Given the description of an element on the screen output the (x, y) to click on. 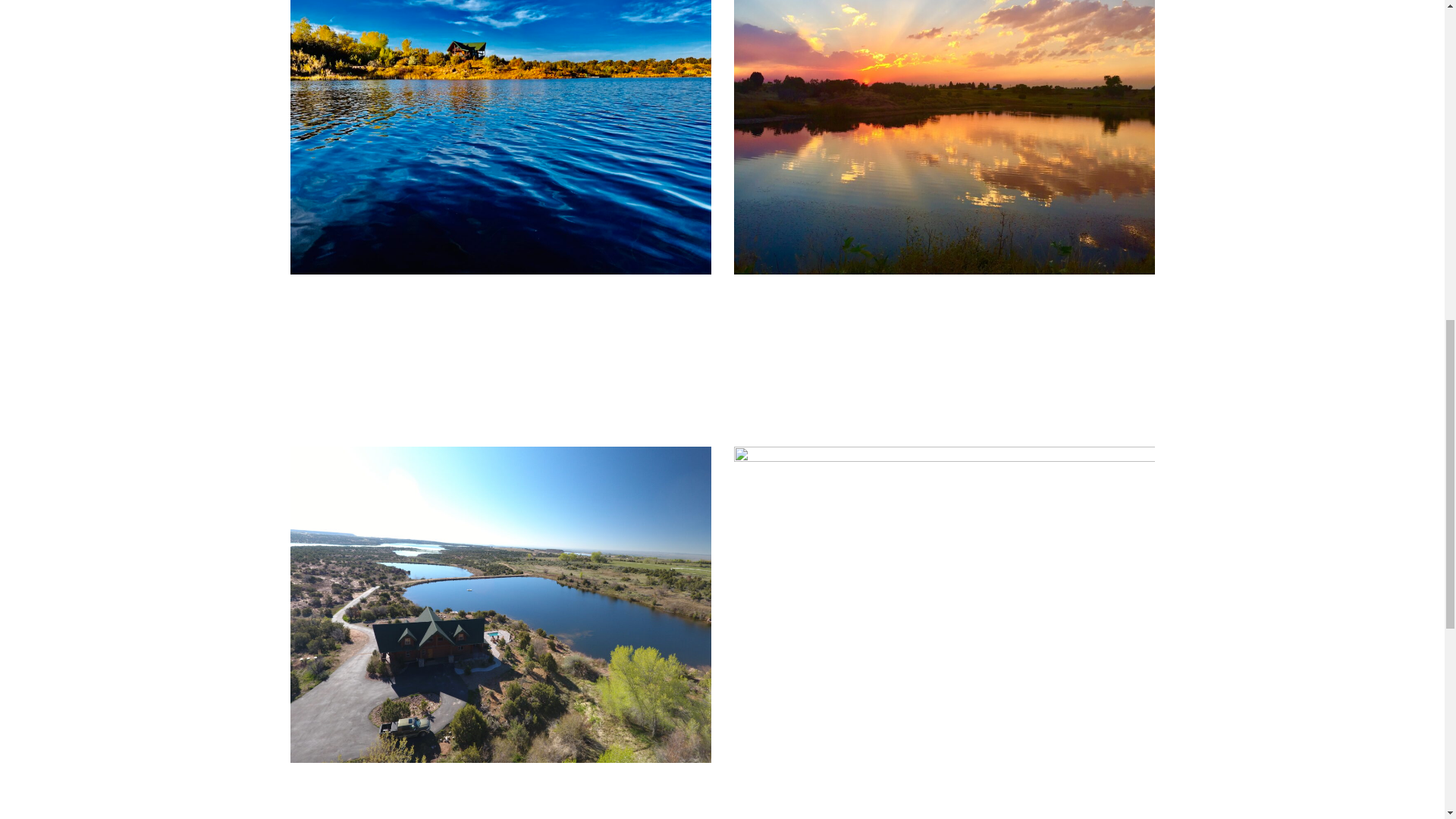
Private Group Retreat (499, 137)
